Given the description of an element on the screen output the (x, y) to click on. 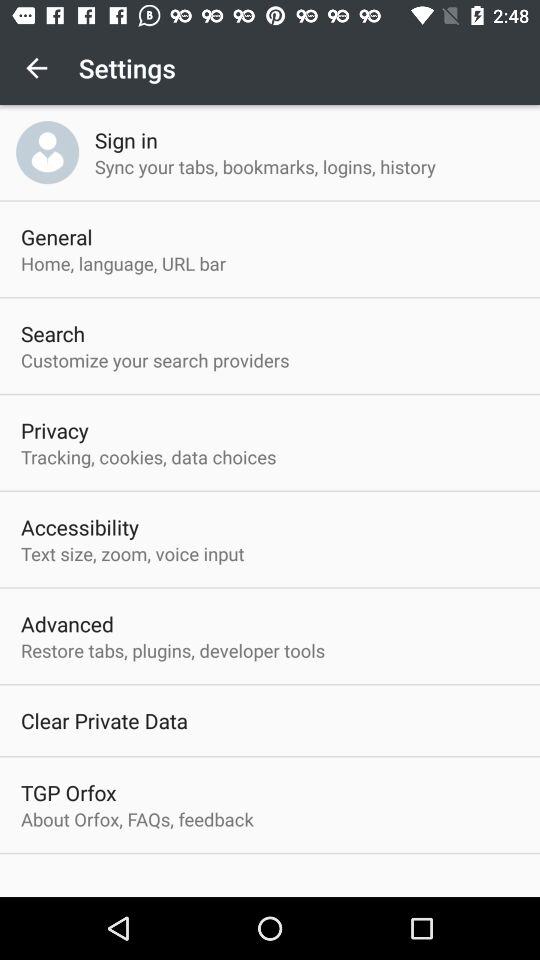
launch the customize your search icon (155, 360)
